Given the description of an element on the screen output the (x, y) to click on. 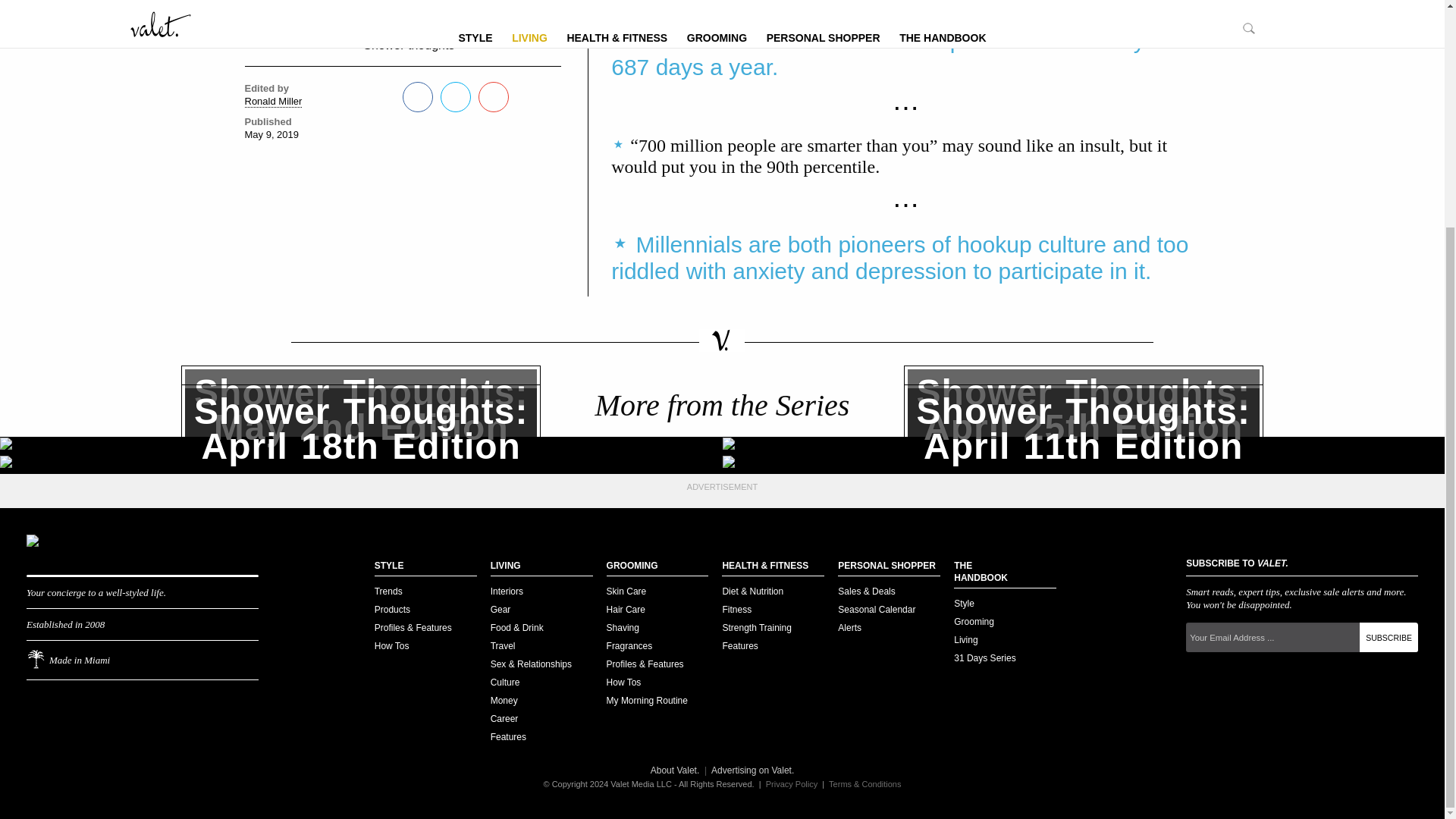
Subscribe (361, 465)
Ronald Miller (1388, 636)
